Given the description of an element on the screen output the (x, y) to click on. 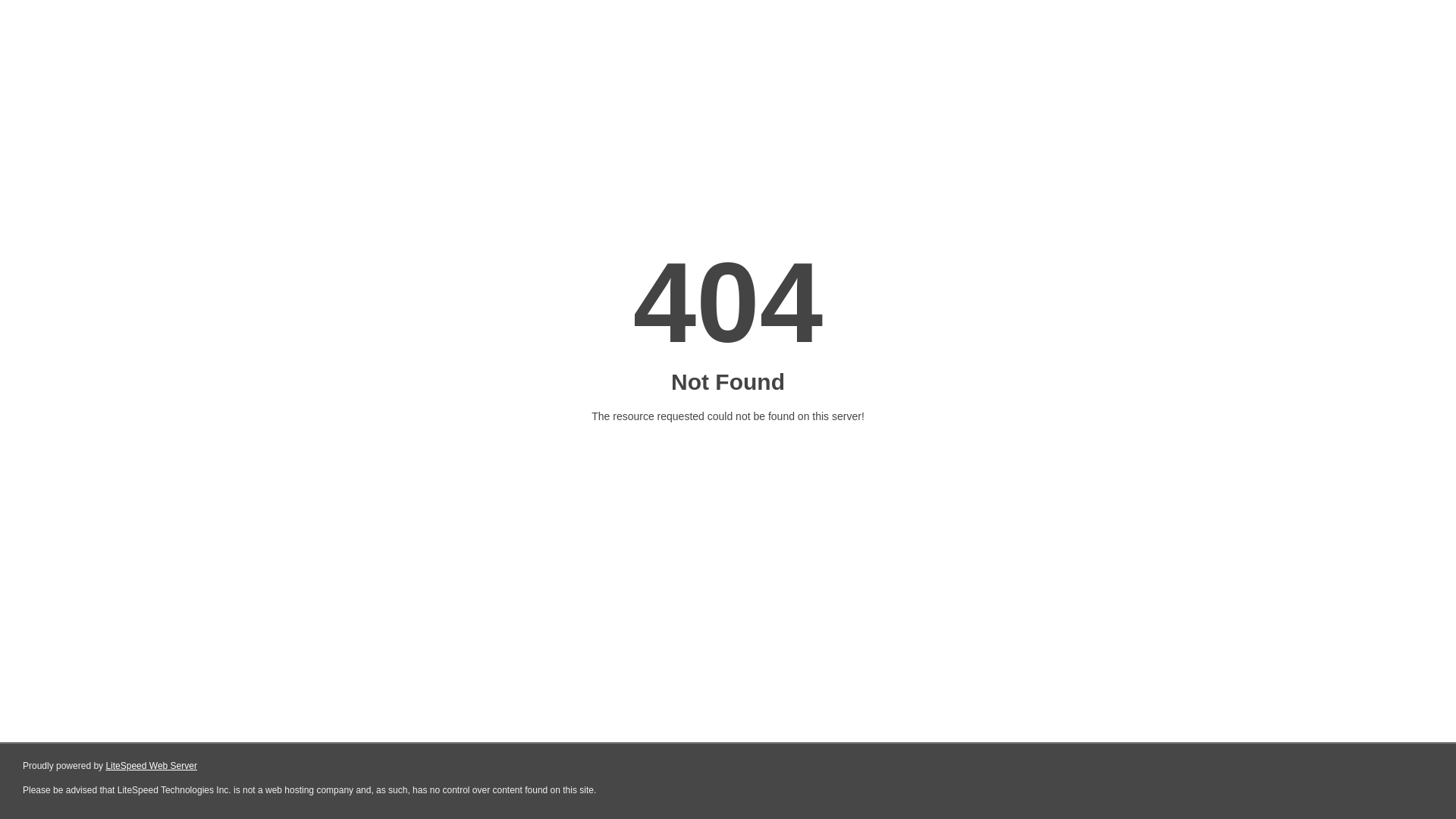
LiteSpeed Web Server Element type: text (151, 765)
